Given the description of an element on the screen output the (x, y) to click on. 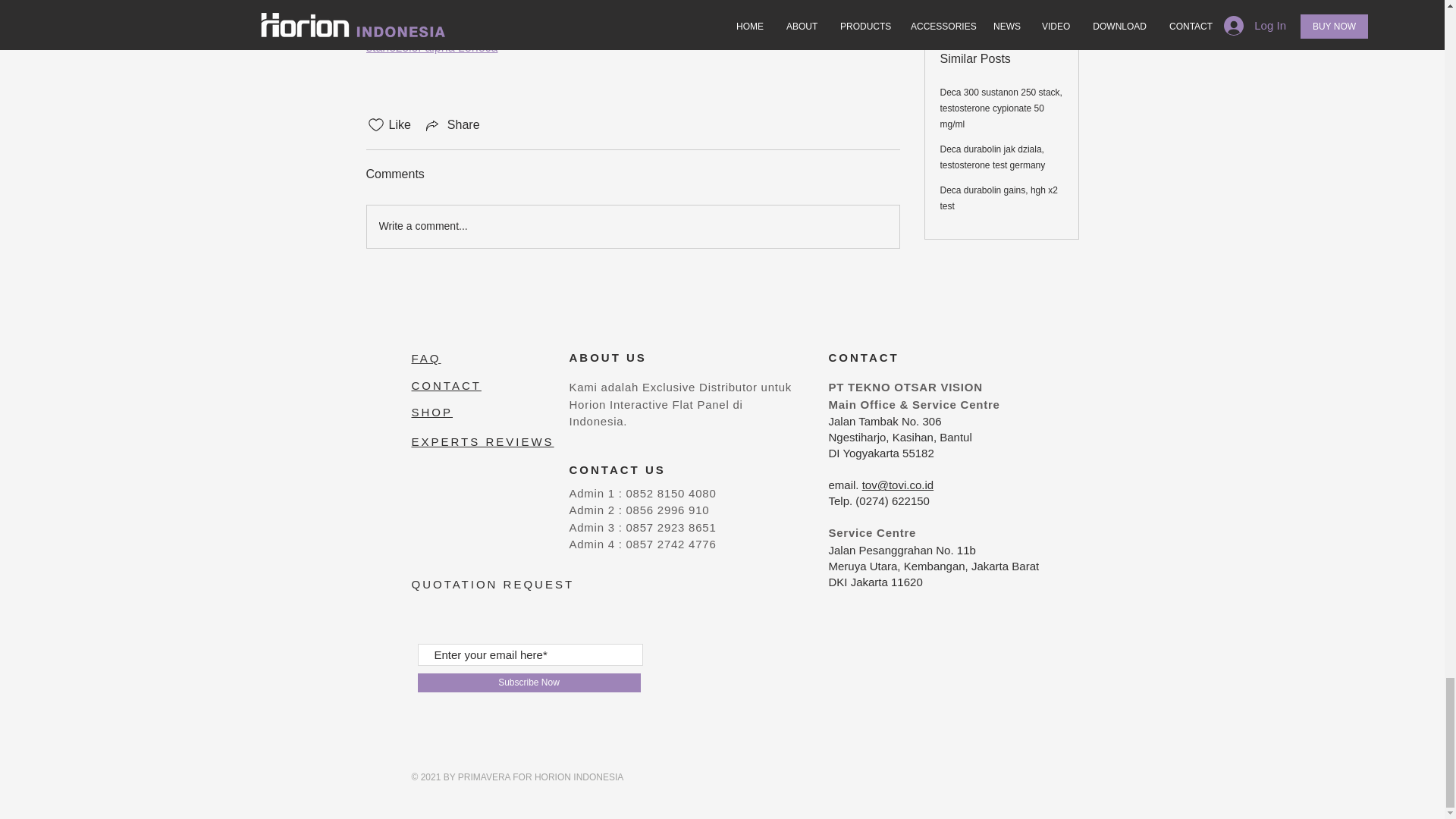
FAQ (425, 358)
EXPERTS REVIEWS (481, 440)
Subscribe Now (528, 682)
Share (451, 125)
CONTACT (445, 385)
SHOP (431, 411)
Write a comment... (632, 226)
